Given the description of an element on the screen output the (x, y) to click on. 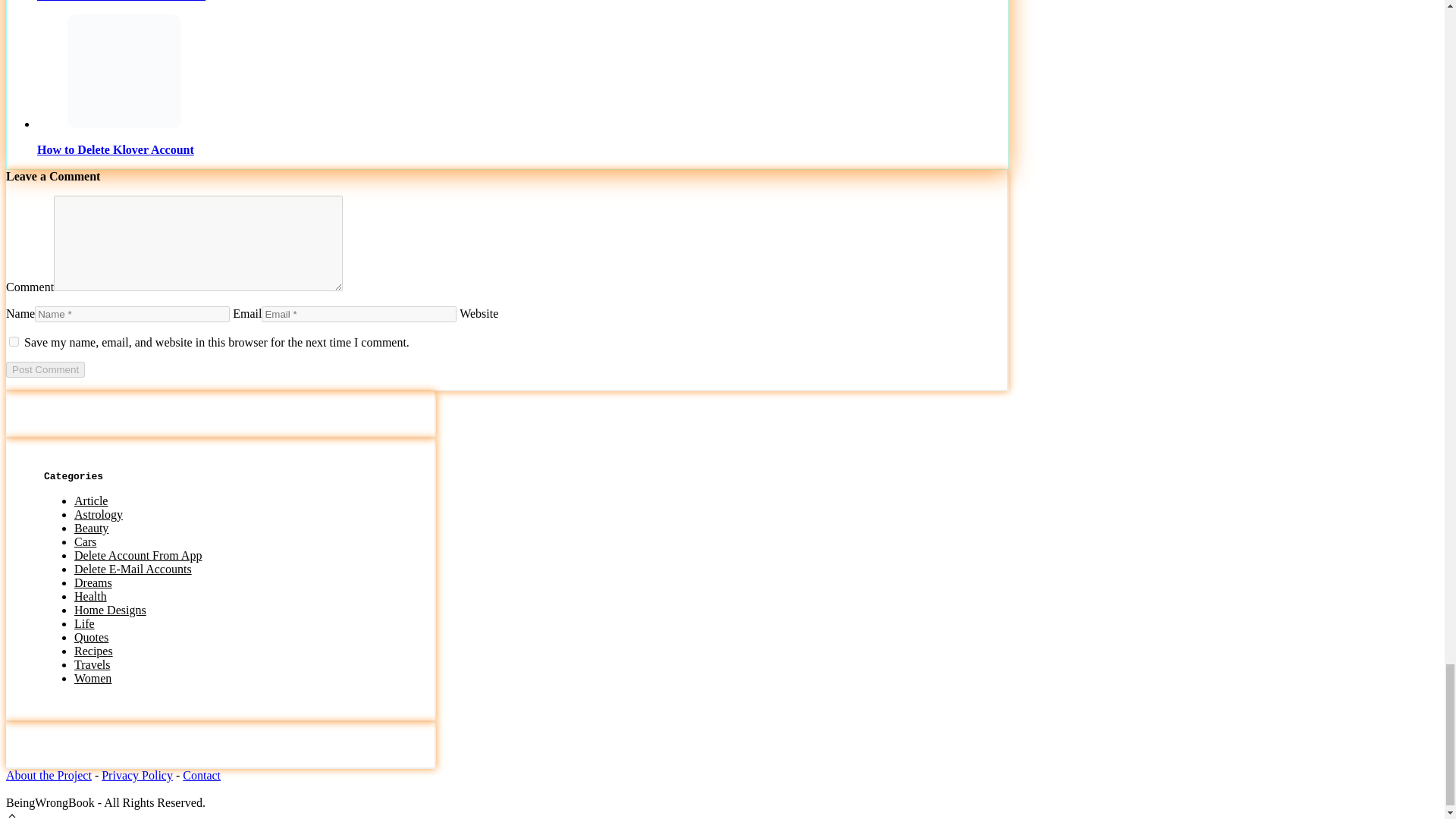
Health (90, 595)
Beauty (90, 527)
Article (90, 500)
Quotes (90, 636)
Delete Account From App (138, 554)
Astrology (98, 513)
Travels (92, 664)
yes (13, 341)
Cars (85, 541)
